Given the description of an element on the screen output the (x, y) to click on. 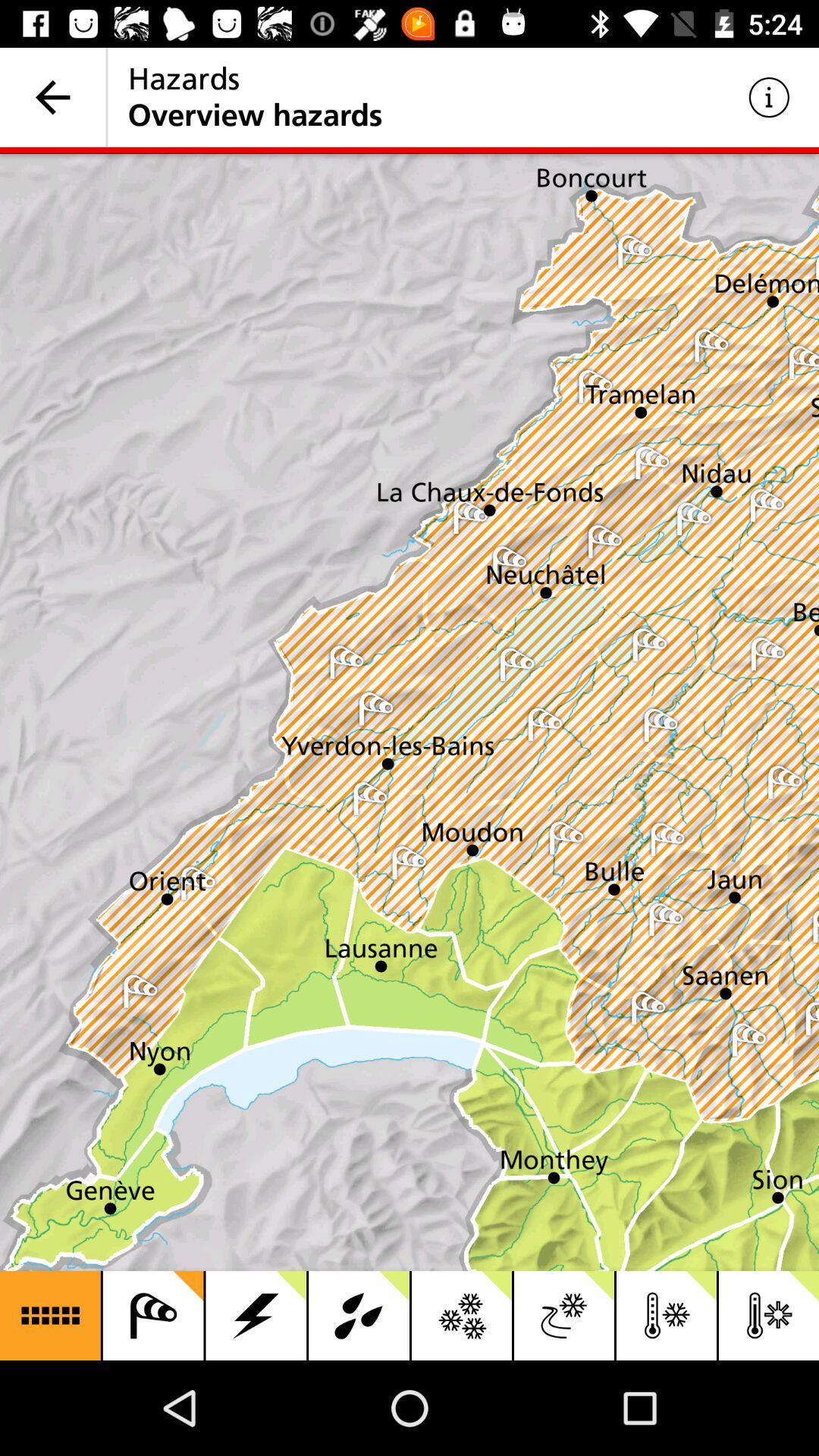
select icon to the left of hazards item (52, 97)
